Given the description of an element on the screen output the (x, y) to click on. 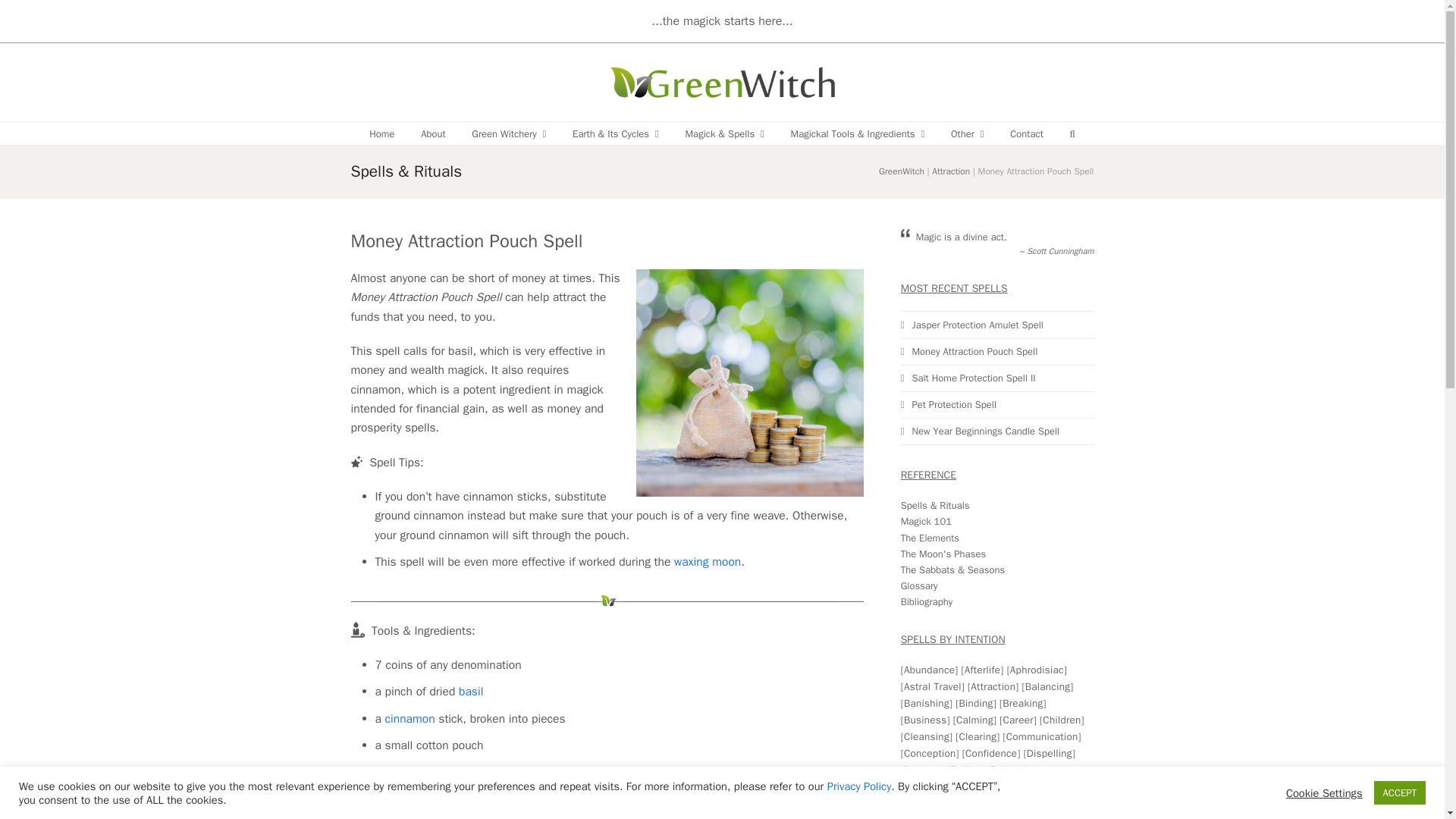
About (433, 133)
Green Witchery (508, 133)
Home (382, 133)
